Given the description of an element on the screen output the (x, y) to click on. 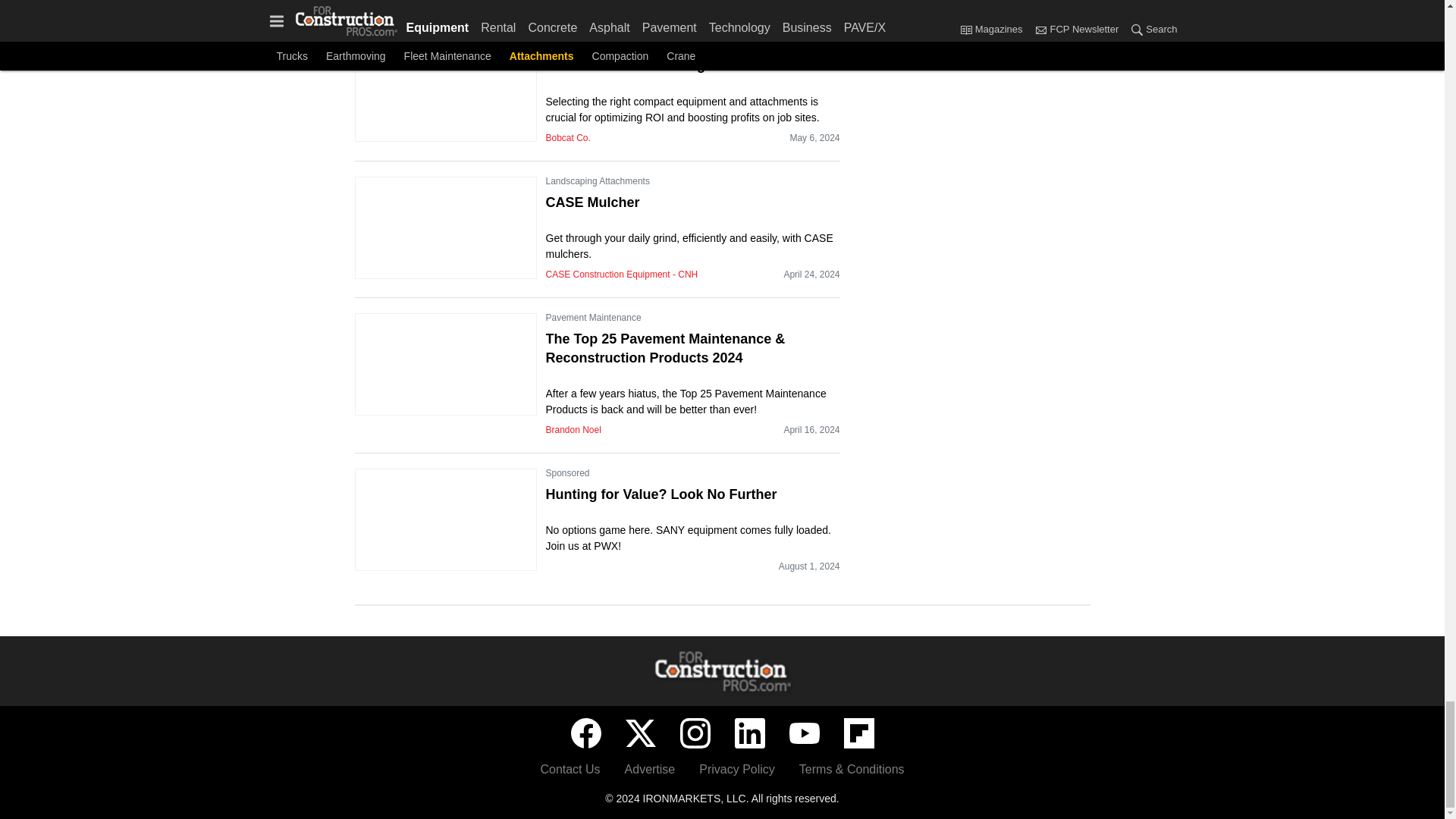
Twitter X icon (639, 733)
Instagram icon (694, 733)
Flipboard icon (858, 733)
YouTube icon (803, 733)
LinkedIn icon (748, 733)
Facebook icon (584, 733)
